Given the description of an element on the screen output the (x, y) to click on. 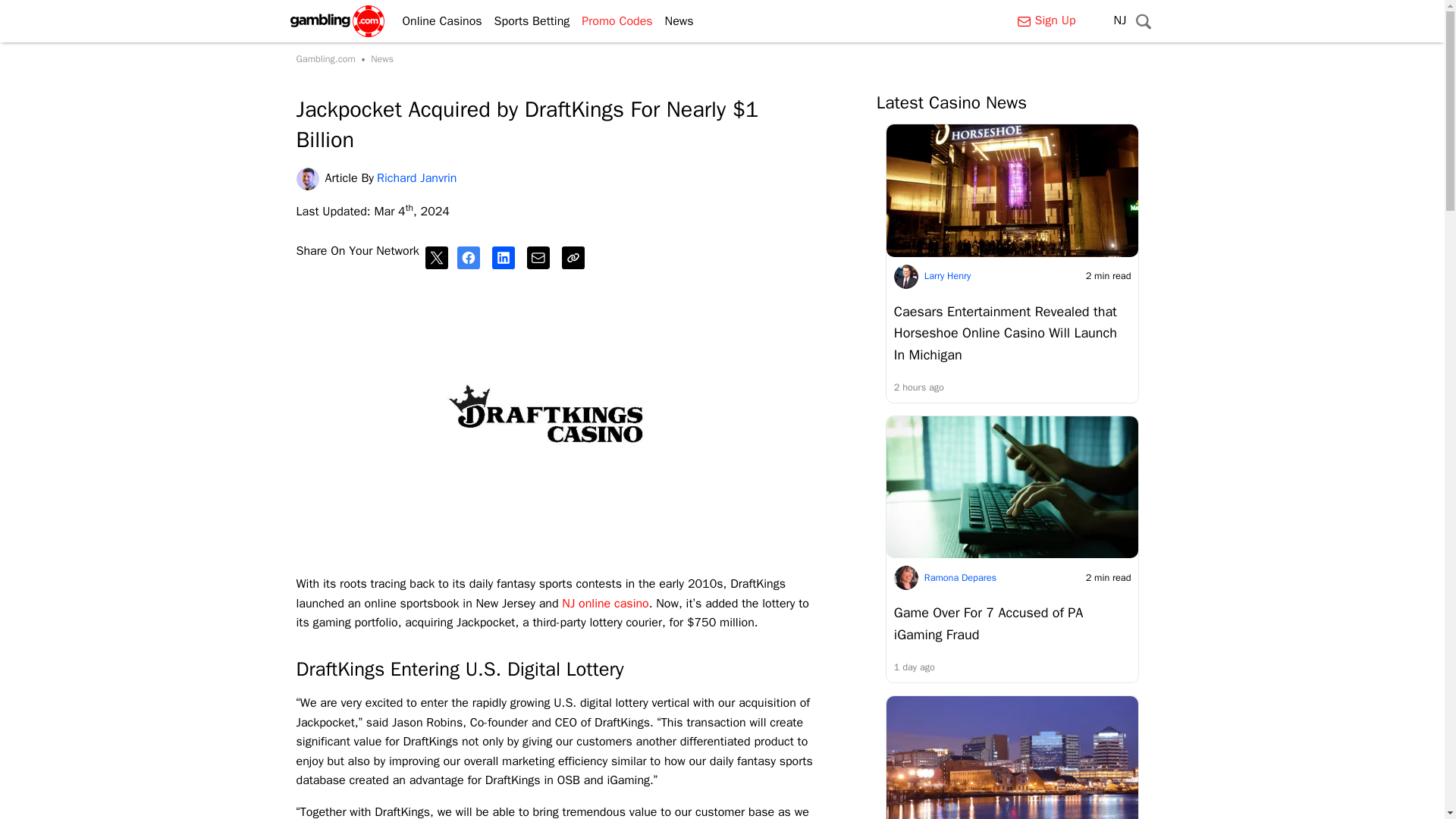
Ramona Depares (959, 577)
Larry Henry (947, 275)
Sports Betting (525, 21)
Richard Janvrin (309, 178)
Copy URL (576, 257)
Online Casinos (435, 21)
